Given the description of an element on the screen output the (x, y) to click on. 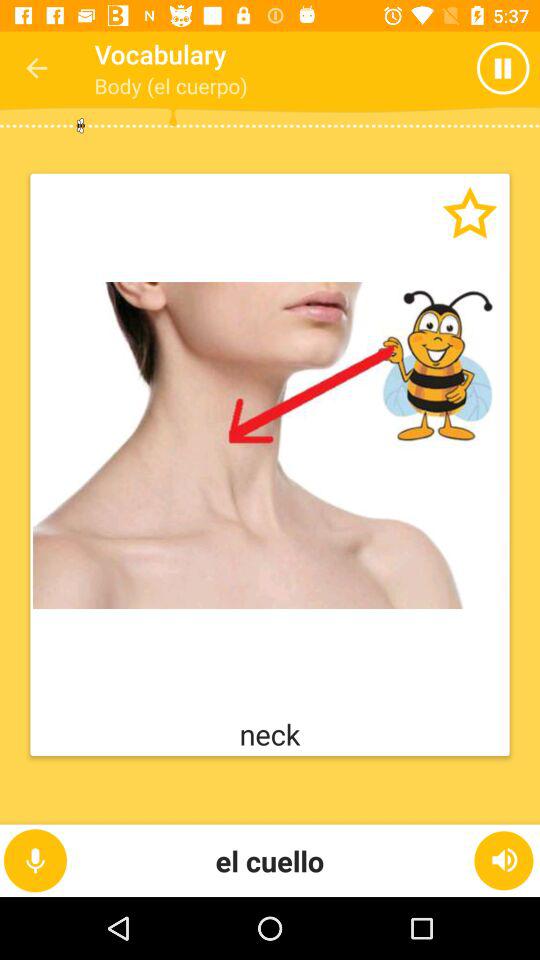
turn off icon to the right of the body (el cuerpo) (463, 67)
